Given the description of an element on the screen output the (x, y) to click on. 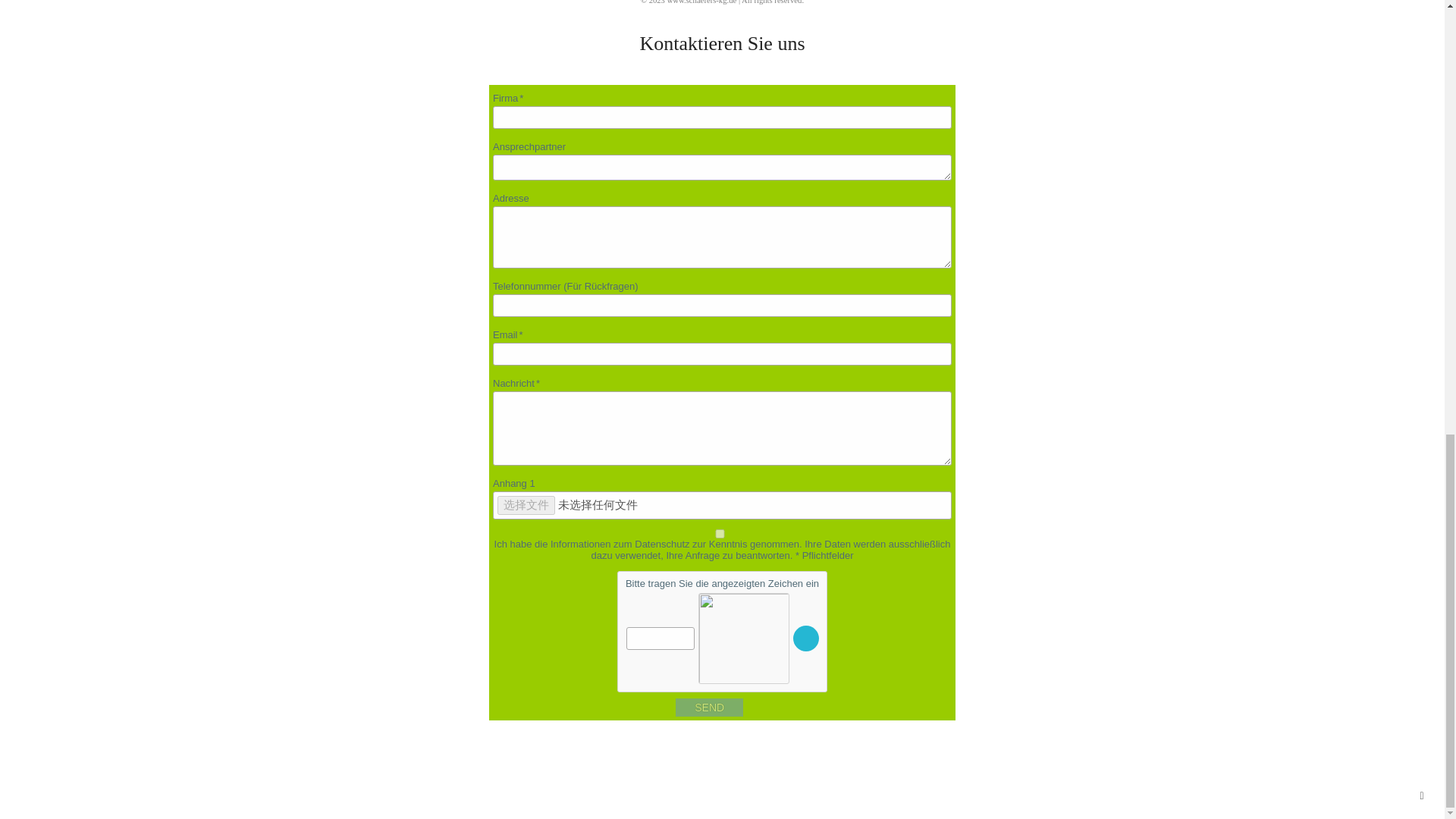
Click to try a different image (805, 638)
1 (718, 533)
Send (708, 707)
